Given the description of an element on the screen output the (x, y) to click on. 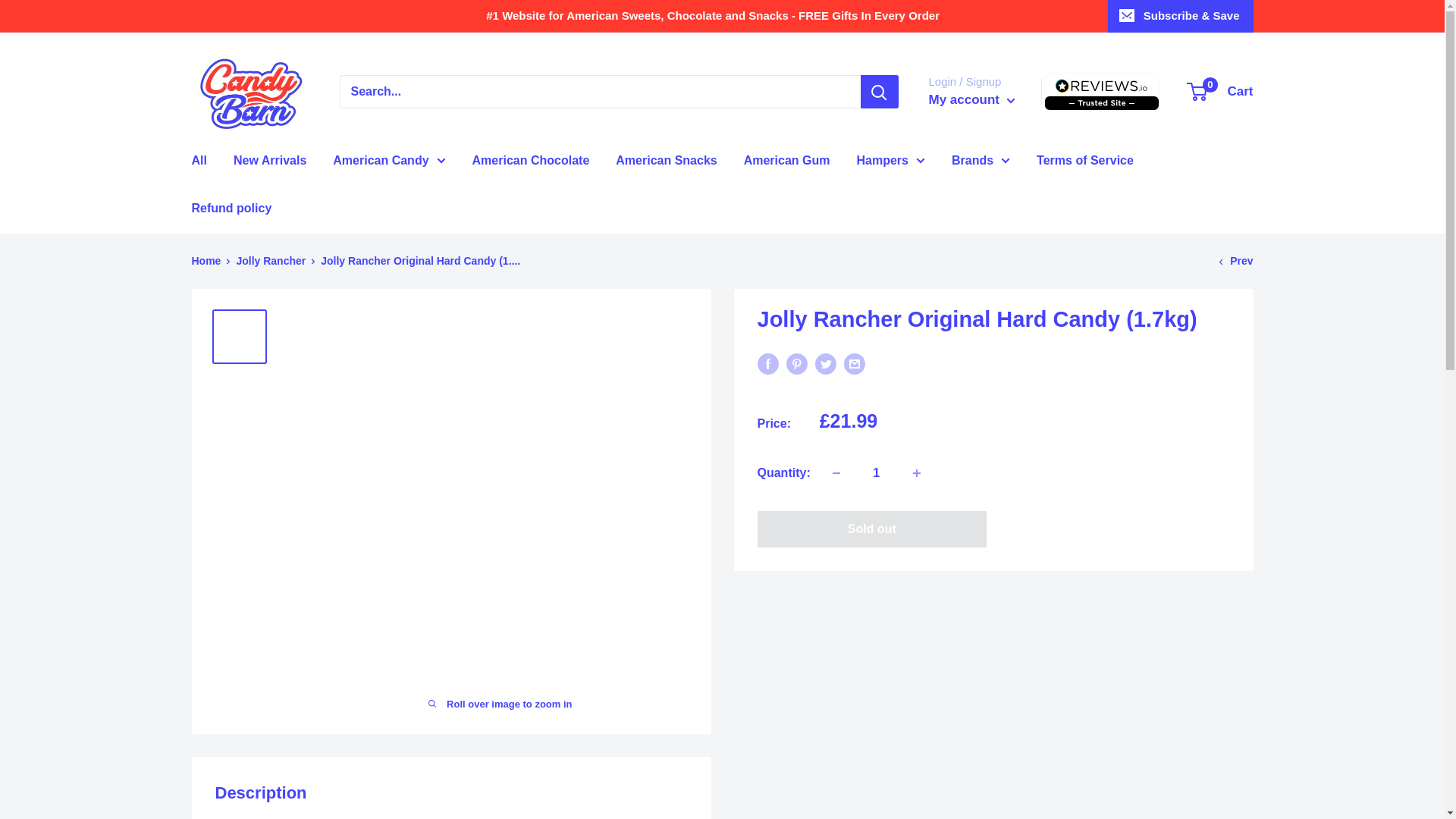
1 (876, 472)
Increase quantity by 1 (917, 472)
Decrease quantity by 1 (836, 472)
